Given the description of an element on the screen output the (x, y) to click on. 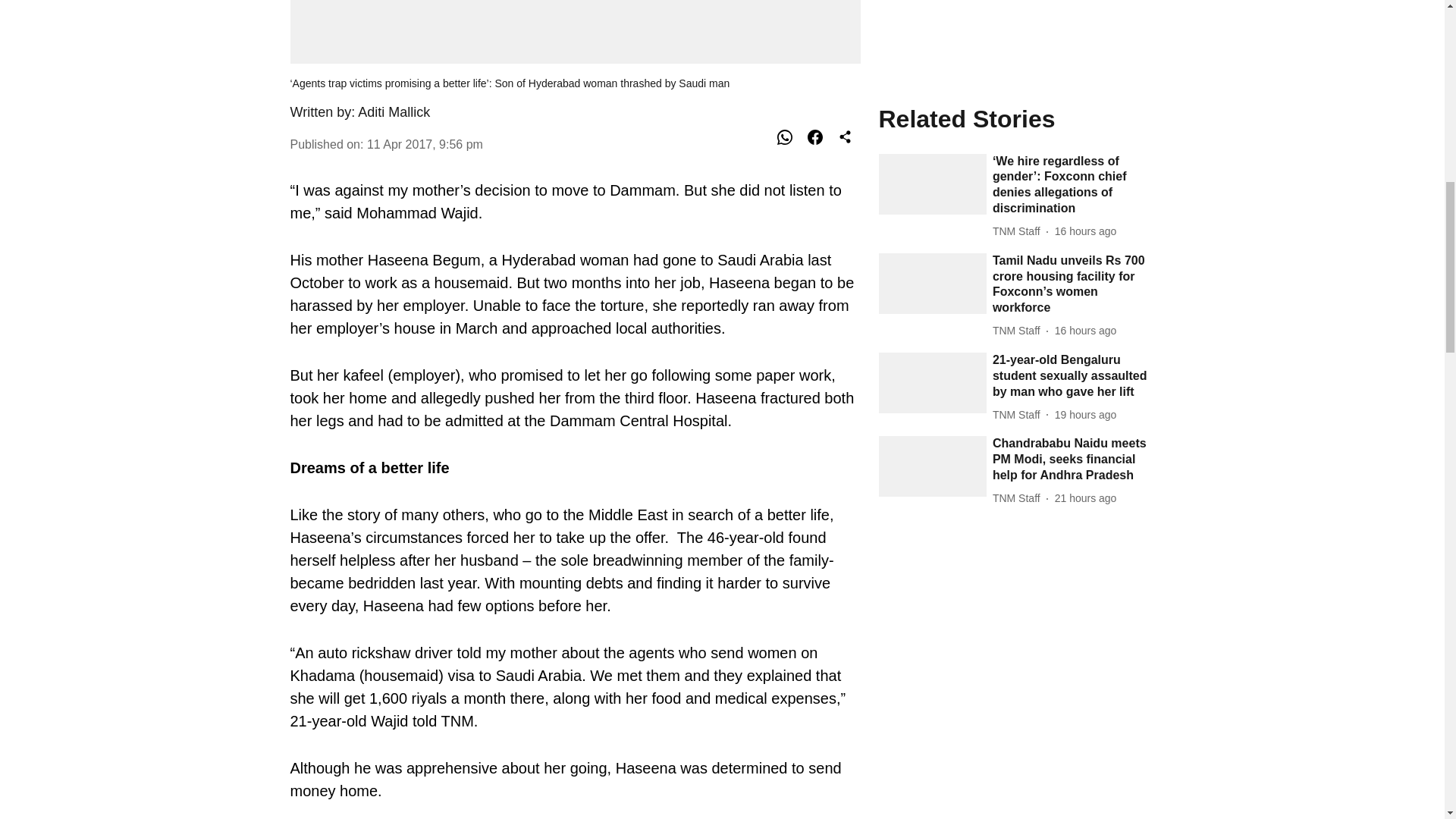
2024-08-18 08:41 (1085, 146)
2024-08-18 10:39 (1085, 63)
2017-04-11 13:56 (424, 144)
Aditi Mallick (393, 111)
